Given the description of an element on the screen output the (x, y) to click on. 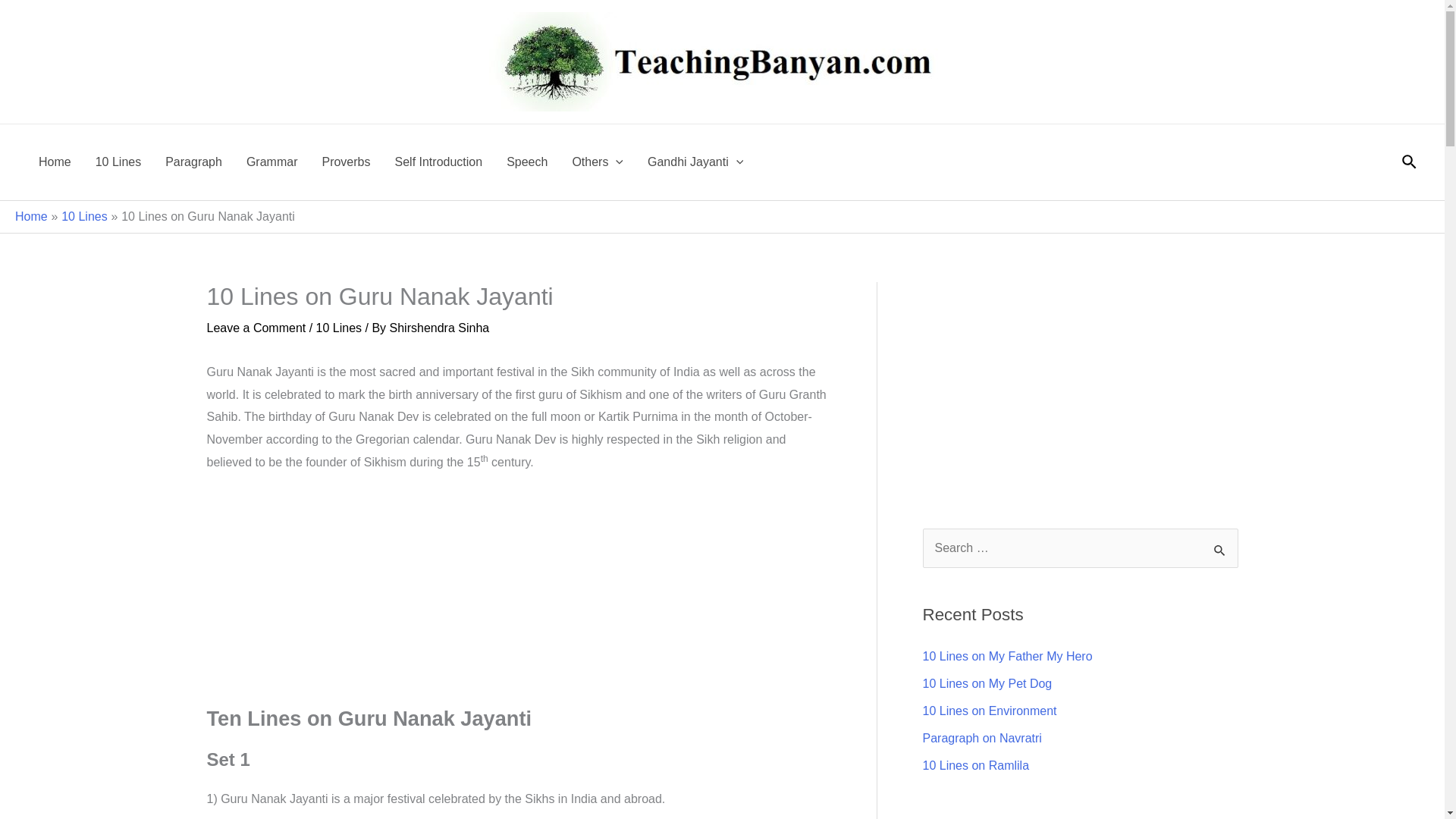
View all posts by Shirshendra Sinha (439, 327)
Self Introduction (438, 161)
Shirshendra Sinha (439, 327)
Advertisement (1078, 387)
Advertisement (1078, 815)
Others (596, 161)
10 Lines (338, 327)
10 Lines (84, 215)
Grammar (272, 161)
Leave a Comment (255, 327)
Paragraph (193, 161)
10 Lines (118, 161)
Proverbs (344, 161)
Advertisement (517, 599)
Home (31, 215)
